Given the description of an element on the screen output the (x, y) to click on. 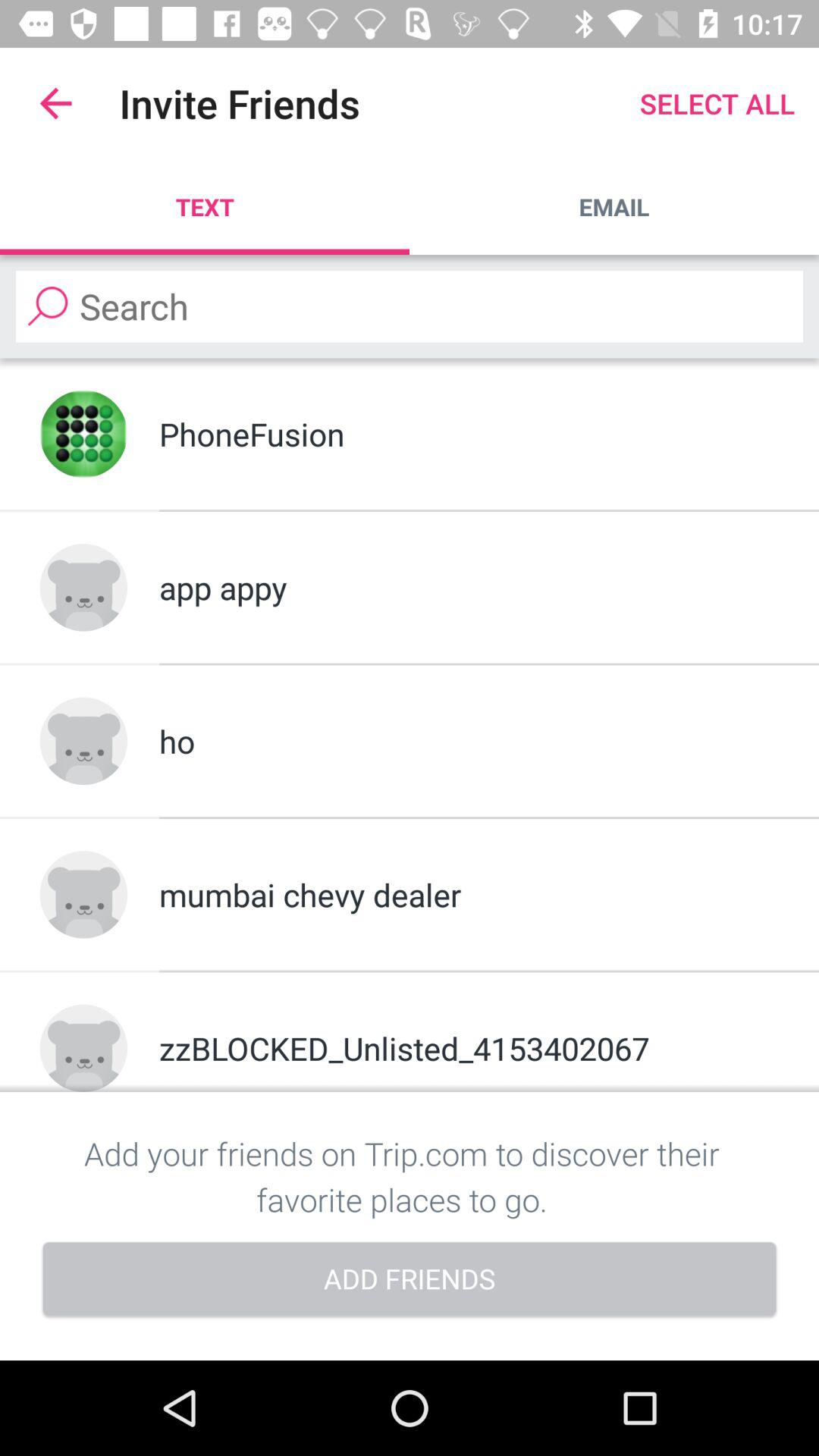
select the phonefusion (469, 433)
